Given the description of an element on the screen output the (x, y) to click on. 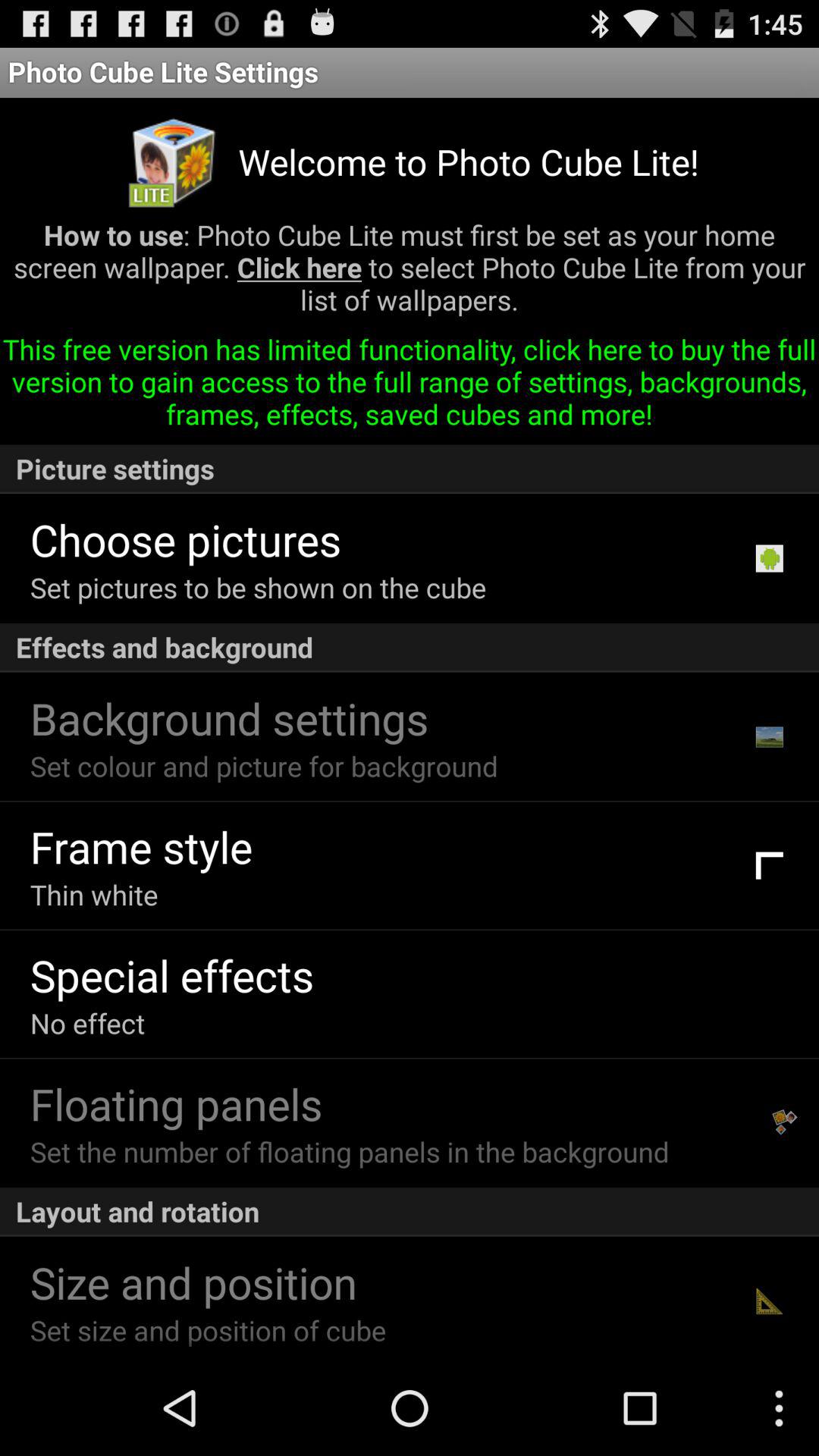
tap the icon below the how to use icon (409, 387)
